Given the description of an element on the screen output the (x, y) to click on. 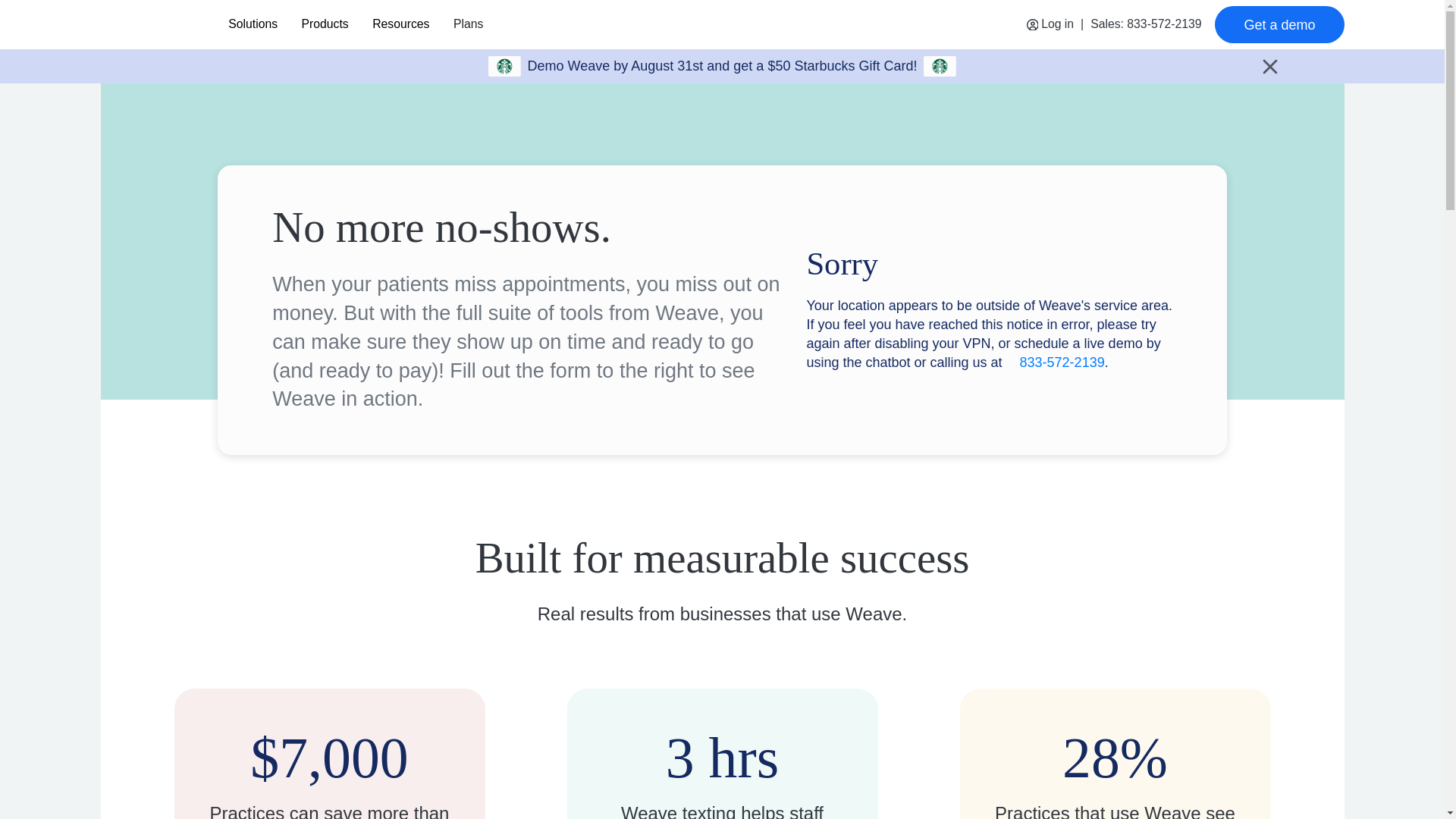
Sales: 833-572-2139 (1145, 23)
833-572-2139 (1062, 362)
Plans (468, 24)
Log in (1050, 23)
Get a demo (1278, 24)
